Given the description of an element on the screen output the (x, y) to click on. 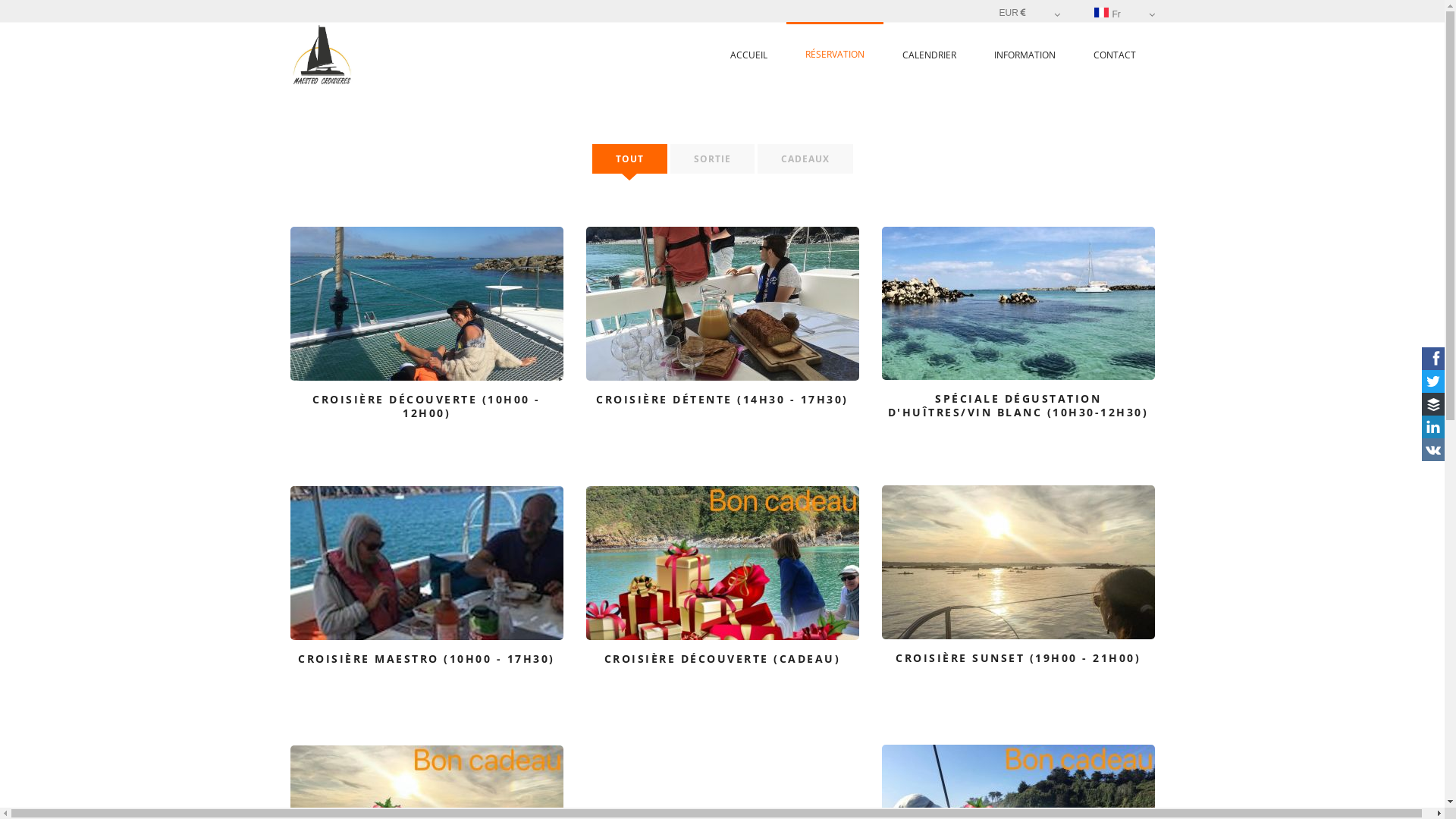
CONTACT Element type: text (1113, 54)
TOUT Element type: text (628, 158)
SORTIE Element type: text (712, 158)
ACCUEIL Element type: text (748, 54)
CALENDRIER Element type: text (928, 54)
INFORMATION Element type: text (1024, 54)
CADEAUX Element type: text (804, 158)
